Given the description of an element on the screen output the (x, y) to click on. 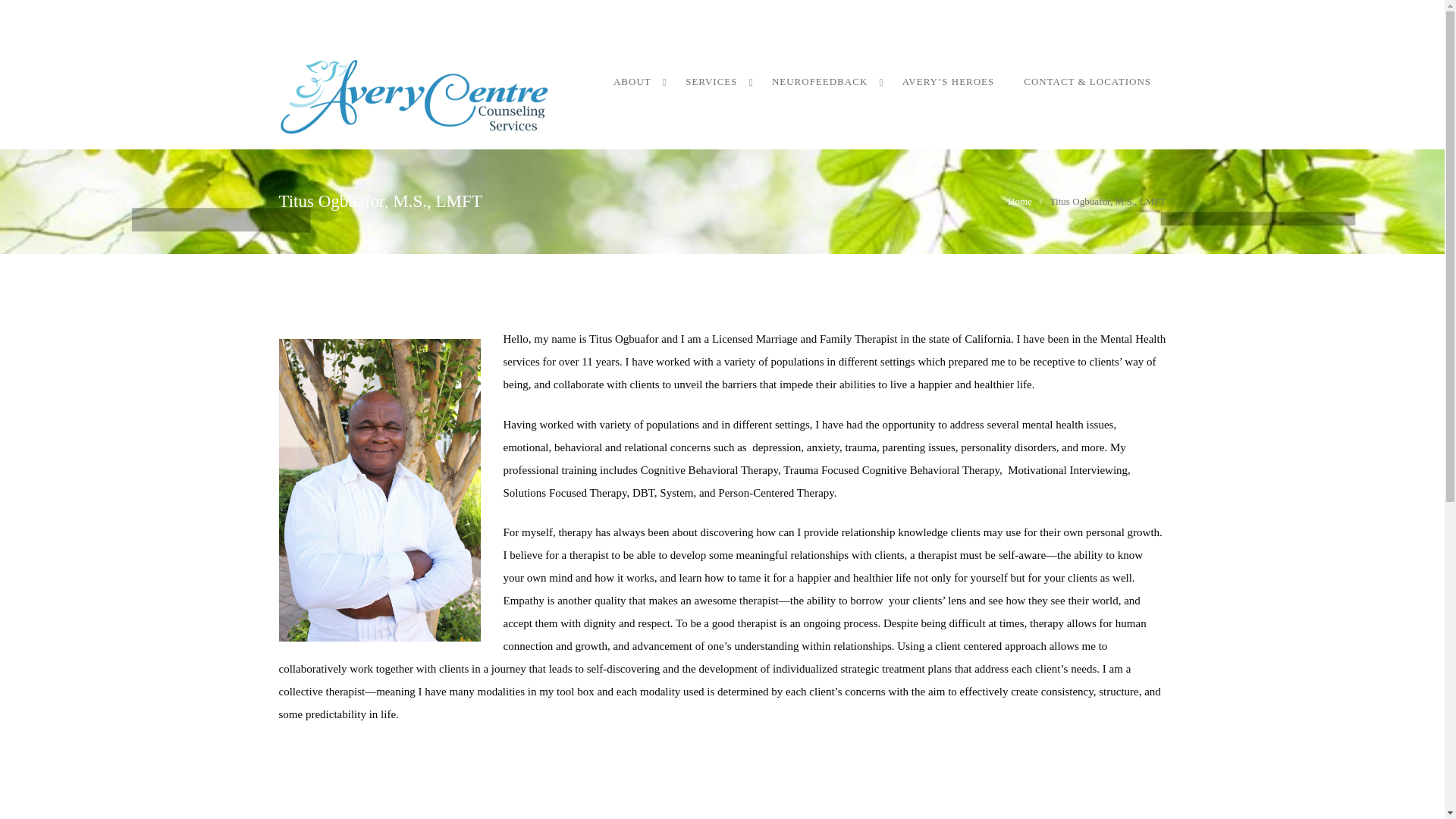
Home (1019, 201)
SERVICES (714, 82)
ABOUT (634, 82)
NEUROFEEDBACK (821, 82)
